Given the description of an element on the screen output the (x, y) to click on. 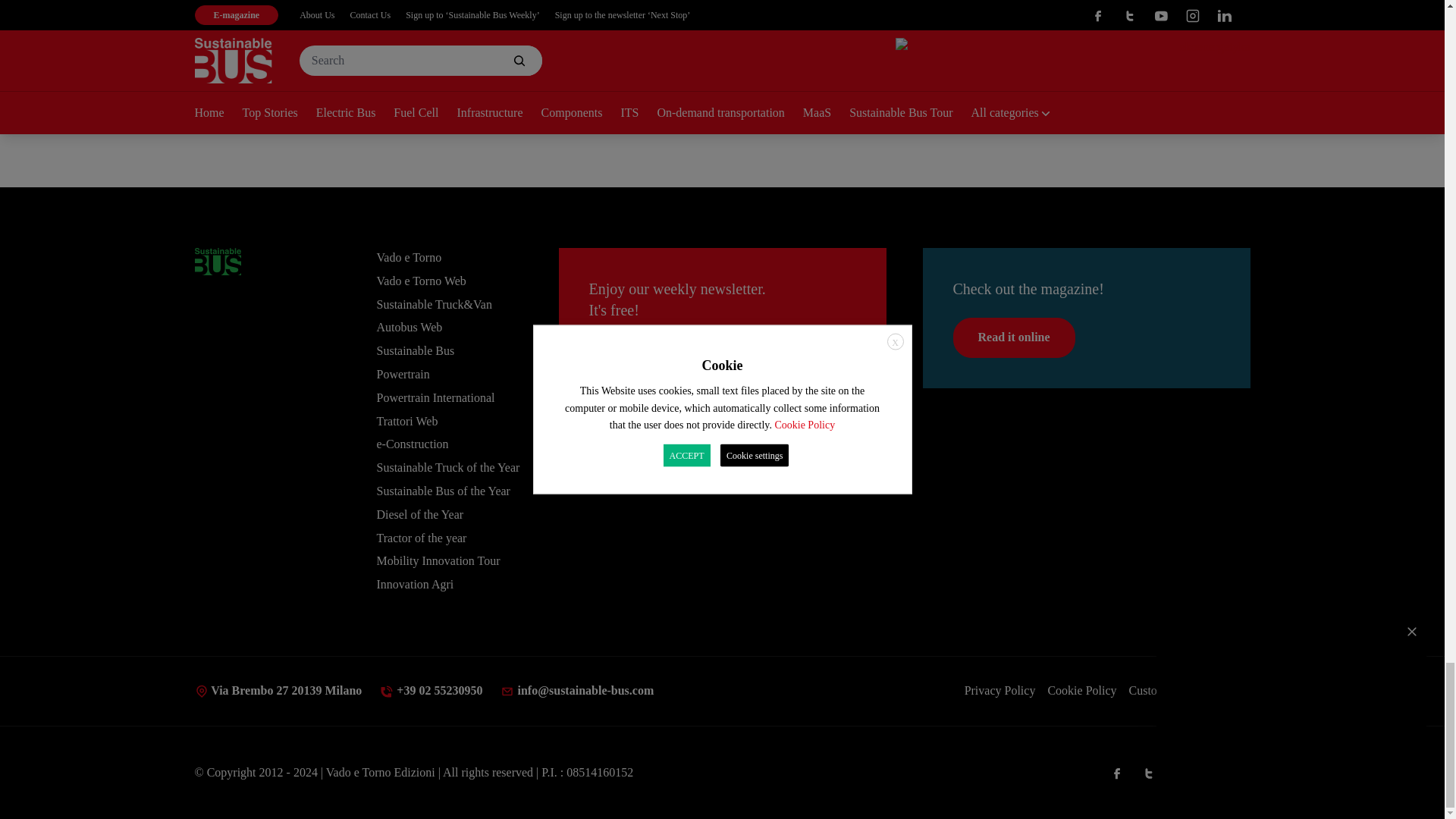
Sustainable Bus (216, 261)
